Given the description of an element on the screen output the (x, y) to click on. 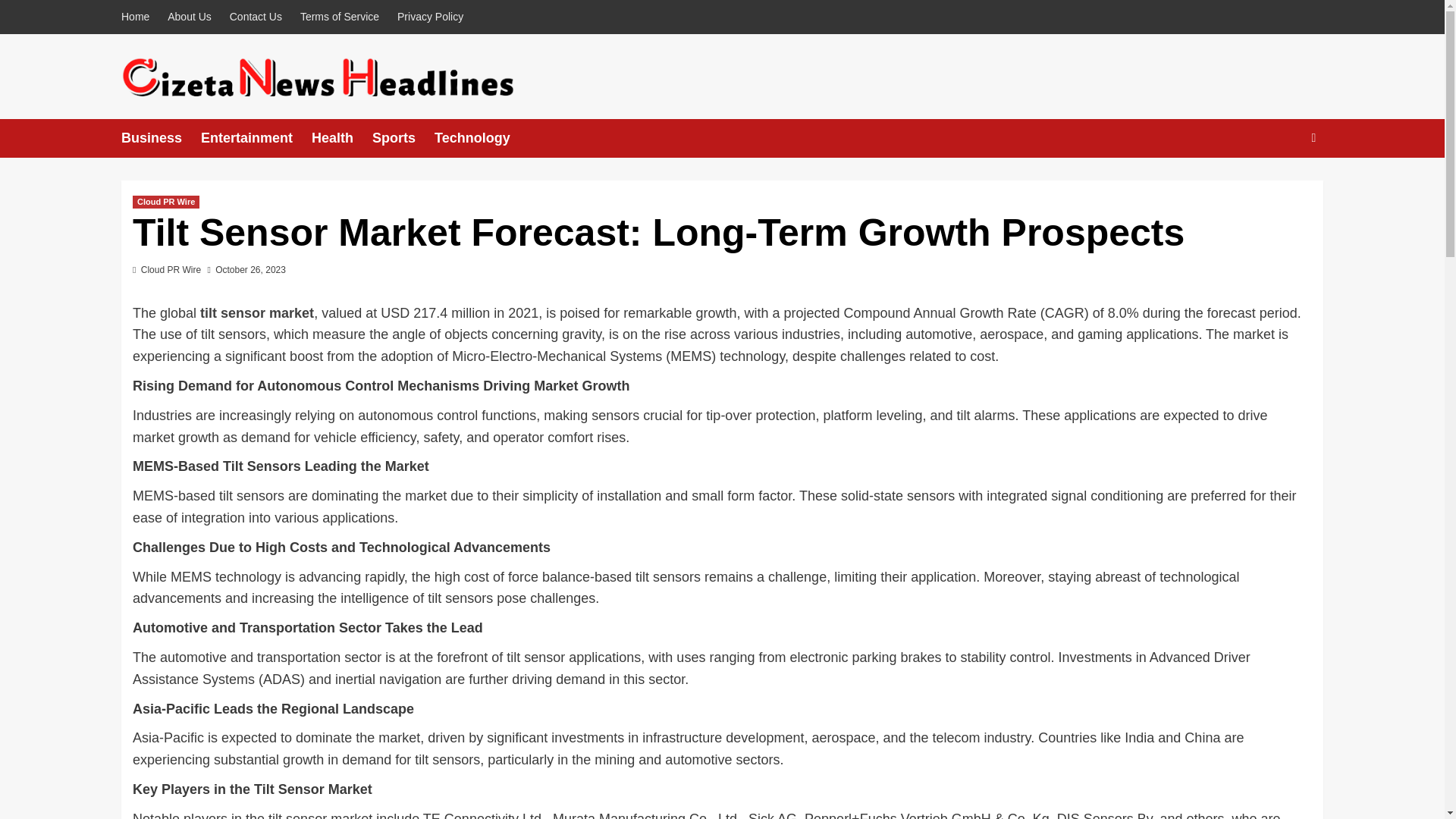
Sports (402, 138)
Cloud PR Wire (165, 201)
About Us (189, 17)
Entertainment (255, 138)
Technology (481, 138)
Terms of Service (339, 17)
tilt sensor market (257, 313)
Business (160, 138)
Health (341, 138)
Cloud PR Wire (170, 269)
